Given the description of an element on the screen output the (x, y) to click on. 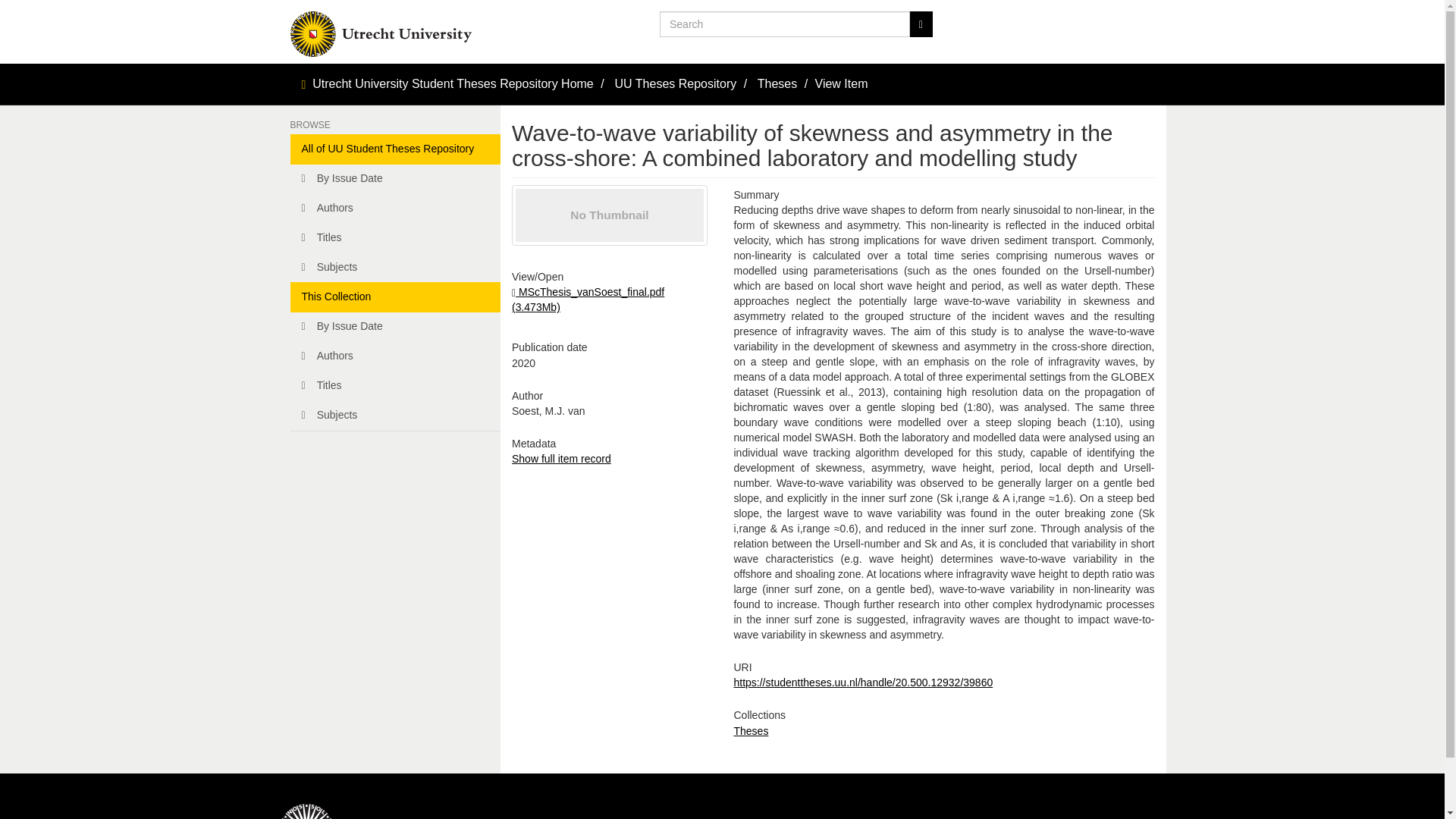
Authors (394, 208)
Utrecht University Student Theses Repository Home (453, 83)
Authors (394, 356)
By Issue Date (394, 178)
Go (920, 23)
Theses (776, 83)
Titles (394, 237)
Subjects (394, 267)
Subjects (394, 415)
UU Theses Repository (675, 83)
